Given the description of an element on the screen output the (x, y) to click on. 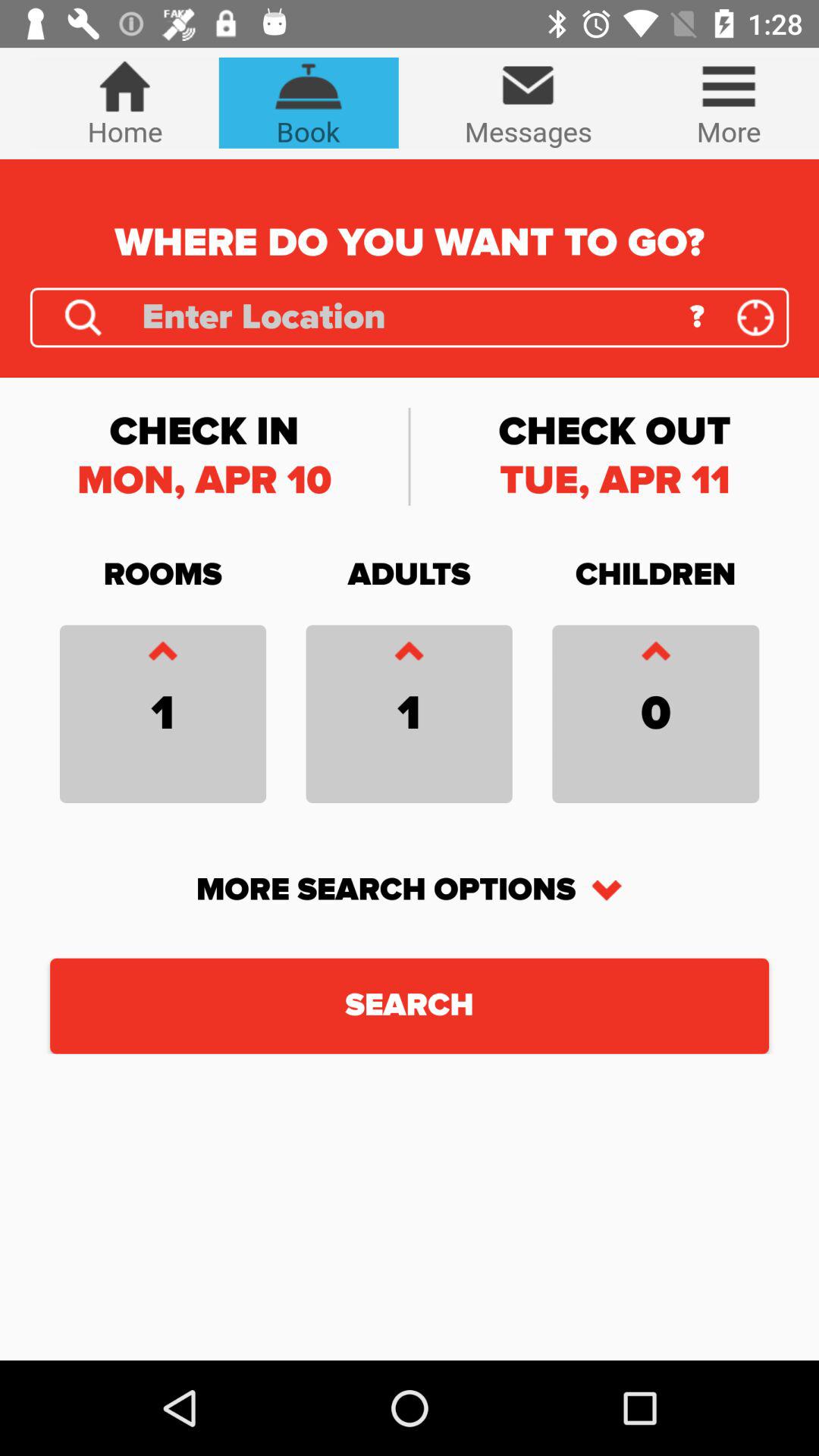
choose item above the where do you (528, 103)
